Given the description of an element on the screen output the (x, y) to click on. 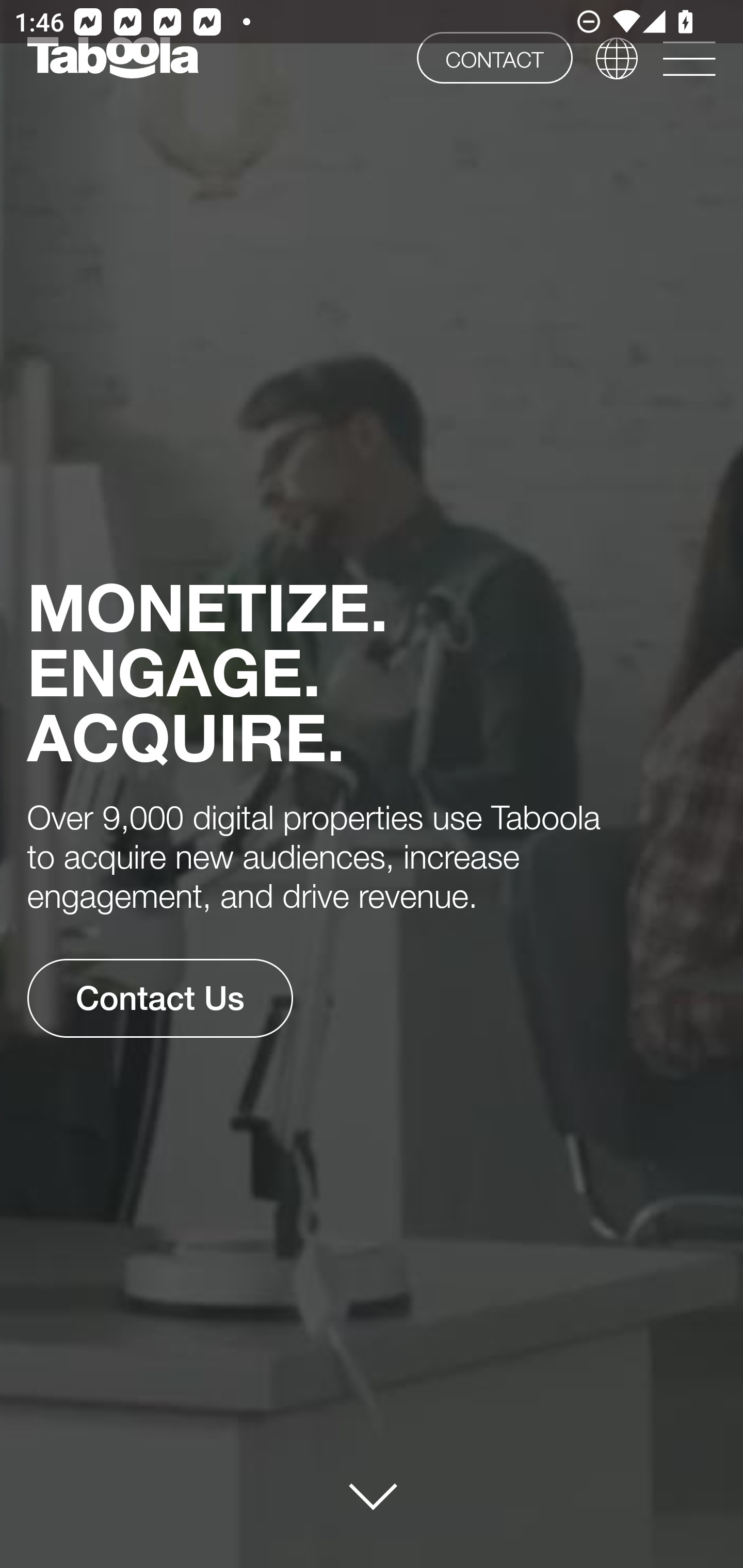
CONTACT (494, 56)
www.taboola (112, 57)
Contact Us (159, 998)
publishers#feed (372, 1496)
